Given the description of an element on the screen output the (x, y) to click on. 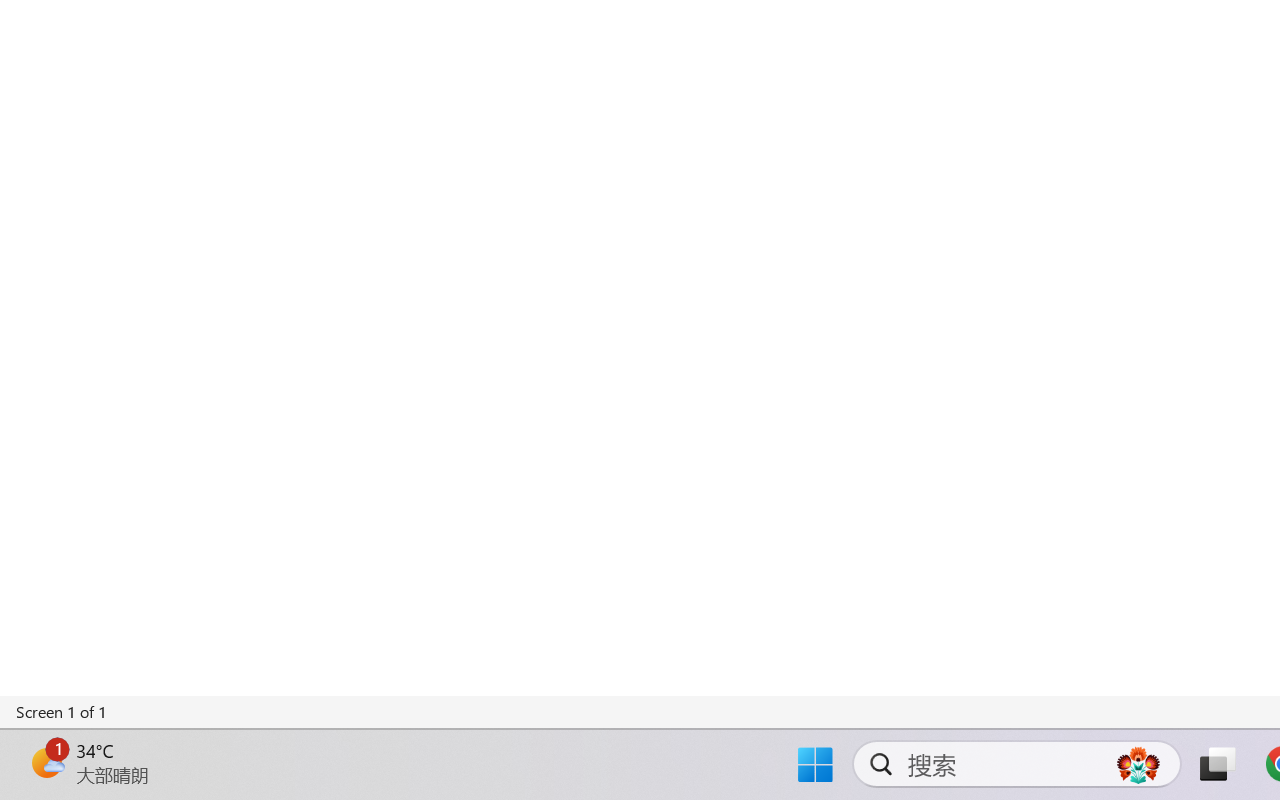
AutomationID: BadgeAnchorLargeTicker (46, 762)
Page Number Screen 1 of 1  (62, 712)
AutomationID: DynamicSearchBoxGleamImage (1138, 764)
